Given the description of an element on the screen output the (x, y) to click on. 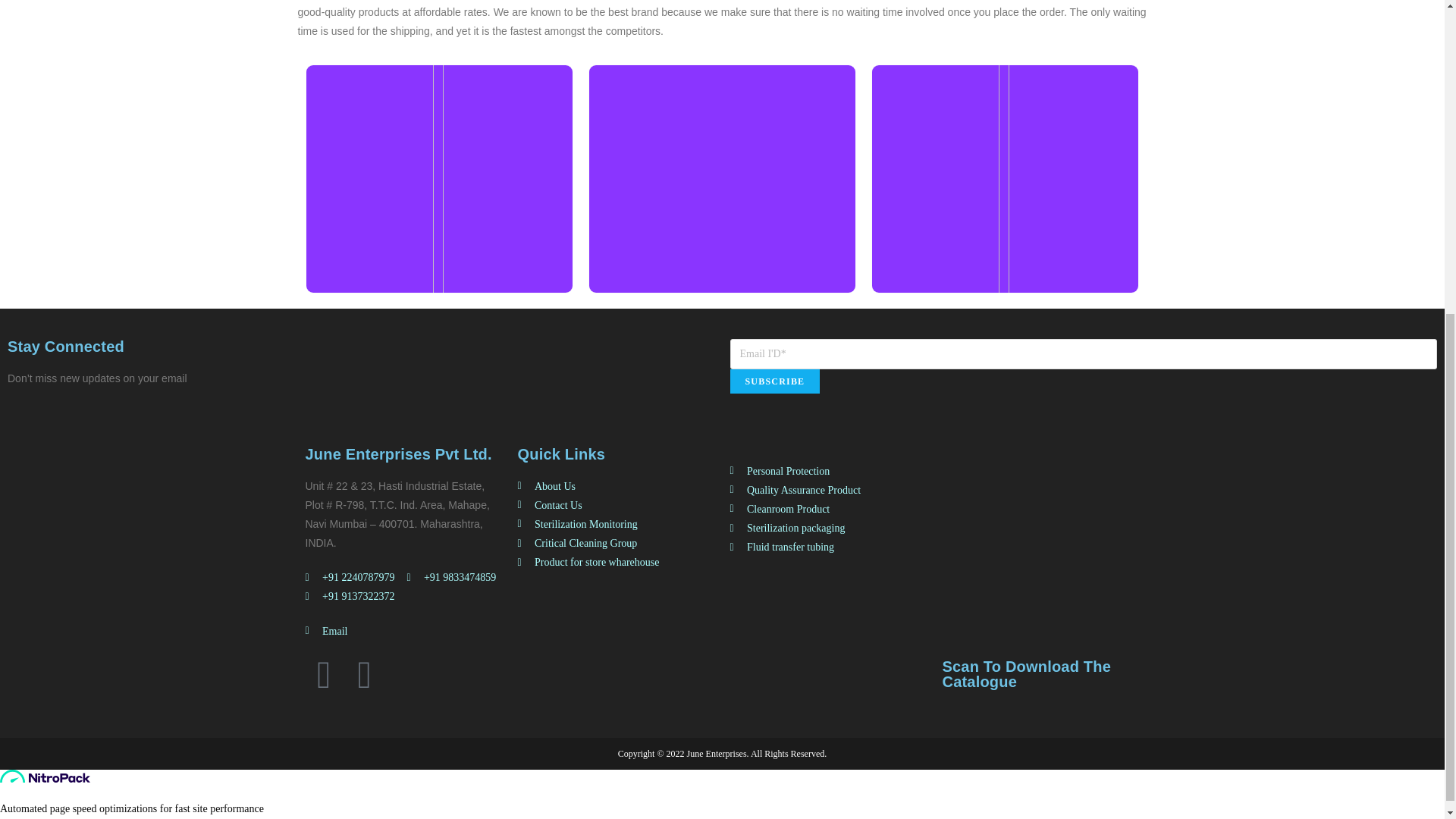
Subscribe (774, 380)
Read More (439, 237)
Subscribe (774, 380)
Read More (1005, 237)
Read More (722, 237)
